Given the description of an element on the screen output the (x, y) to click on. 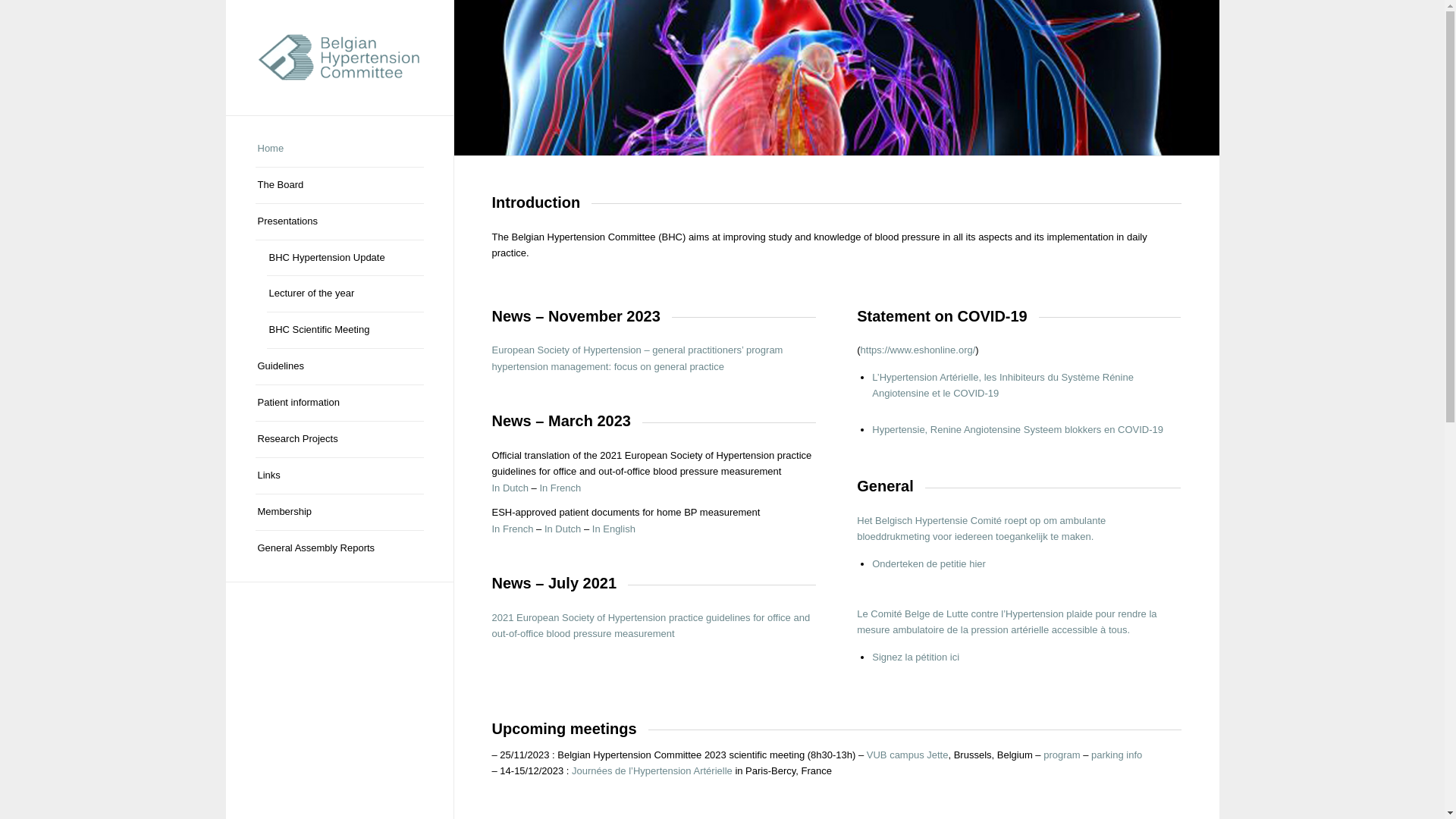
slider1 Element type: hover (835, 78)
BHC Scientific Meeting Element type: text (344, 330)
In Dutch Element type: text (562, 528)
program Element type: text (1061, 754)
parking info Element type: text (1116, 754)
Guidelines Element type: text (338, 366)
In French Element type: text (559, 487)
Presentations Element type: text (338, 221)
In Dutch Element type: text (509, 487)
Patient information Element type: text (338, 403)
Onderteken de petitie hier Element type: text (928, 563)
https://www.eshonline.org/ Element type: text (917, 349)
In French Element type: text (512, 528)
BHC Hypertension Update Element type: text (344, 258)
Links Element type: text (338, 476)
Home Element type: text (338, 149)
Membership Element type: text (338, 512)
General Assembly Reports Element type: text (338, 548)
Research Projects Element type: text (338, 439)
In English Element type: text (613, 528)
VUB campus Jette Element type: text (907, 754)
Lecturer of the year Element type: text (344, 294)
The Board Element type: text (338, 185)
